Given the description of an element on the screen output the (x, y) to click on. 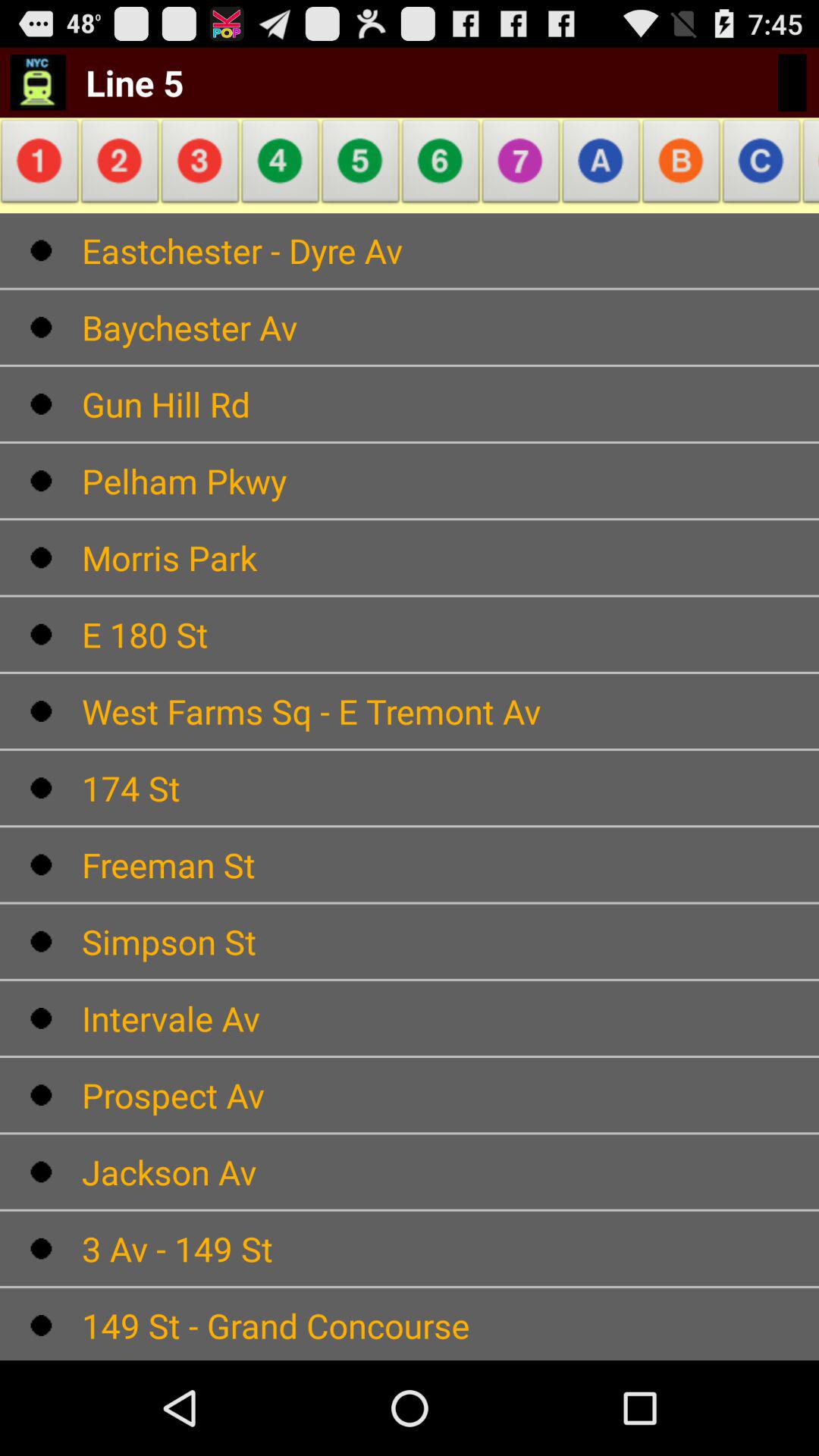
turn off the icon next to the line 5 (280, 165)
